Given the description of an element on the screen output the (x, y) to click on. 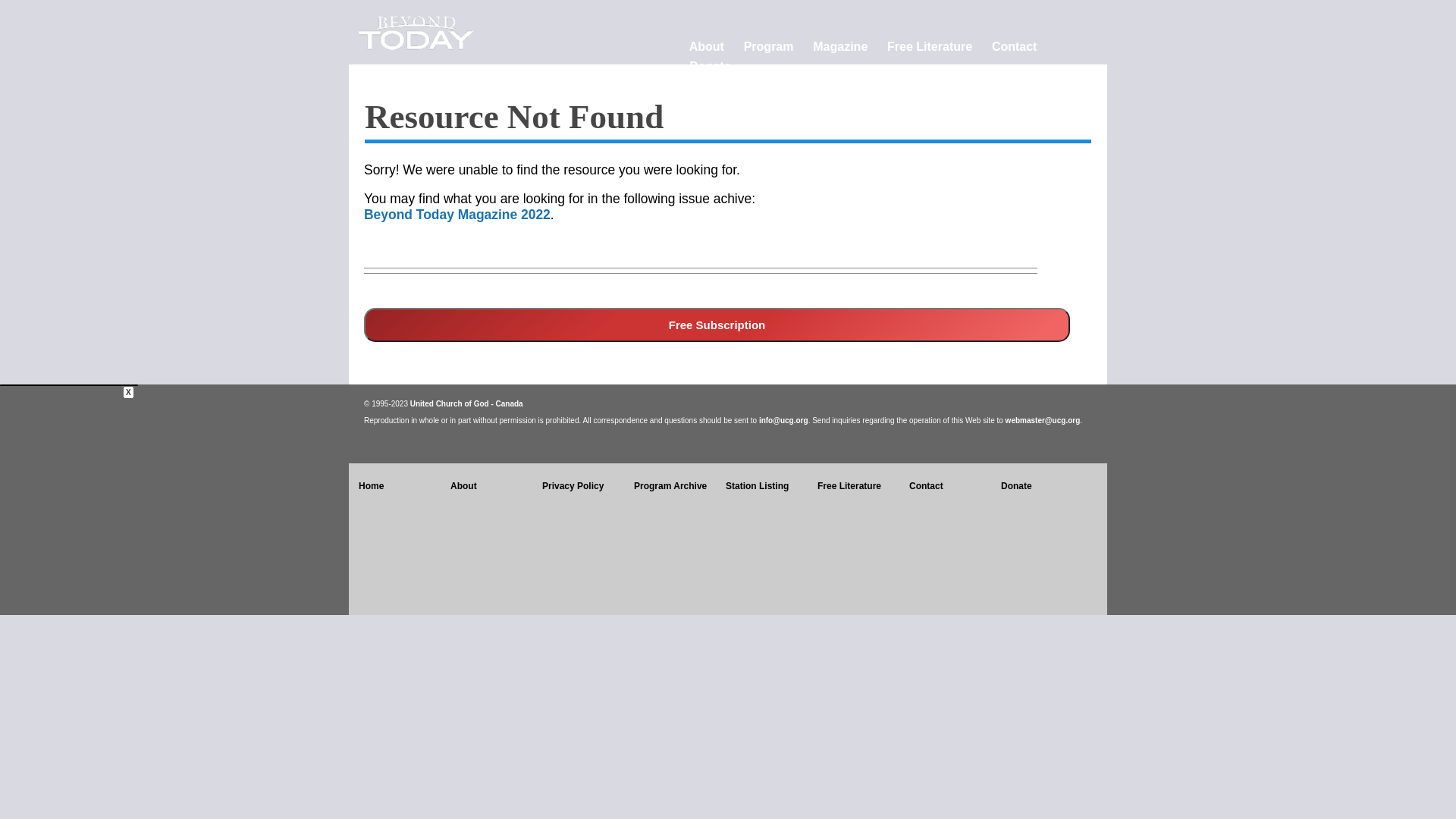
Program Archive Element type: text (669, 485)
Donate Element type: text (1016, 485)
  Donate   Element type: text (709, 66)
Free Literature Element type: text (849, 485)
  Contact   Element type: text (1014, 46)
About Element type: text (463, 485)
  About   Element type: text (706, 46)
United Church of God - Canada Element type: text (466, 403)
  Free Literature   Element type: text (929, 46)
Home Element type: text (370, 485)
  Program   Element type: text (768, 46)
Station Listing Element type: text (756, 485)
Privacy Policy Element type: text (572, 485)
info@ucg.org Element type: text (783, 420)
  Magazine   Element type: text (840, 46)
webmaster@ucg.org Element type: text (1042, 420)
Contact Element type: text (926, 485)
Beyond Today Magazine 2022 Element type: text (457, 214)
Free Subscription Element type: text (717, 324)
X Element type: text (128, 392)
